Given the description of an element on the screen output the (x, y) to click on. 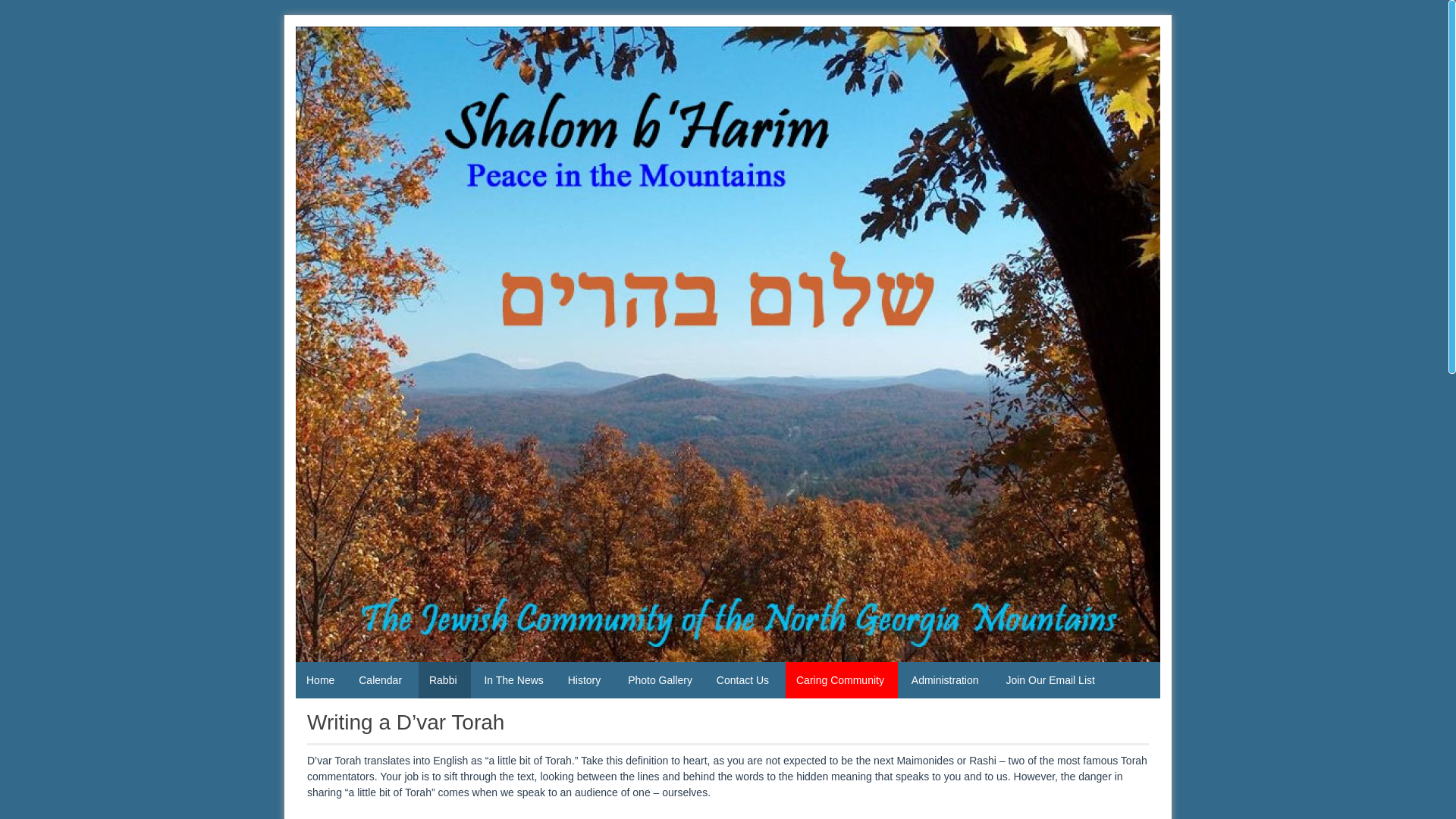
Rabbi (444, 679)
In The News (513, 679)
Contact Us (744, 679)
Caring Community (842, 679)
Shalom b'Harim (352, 603)
Join Our Email List (1049, 679)
Photo Gallery (660, 679)
History (585, 679)
Home (320, 679)
Administration (946, 679)
